Given the description of an element on the screen output the (x, y) to click on. 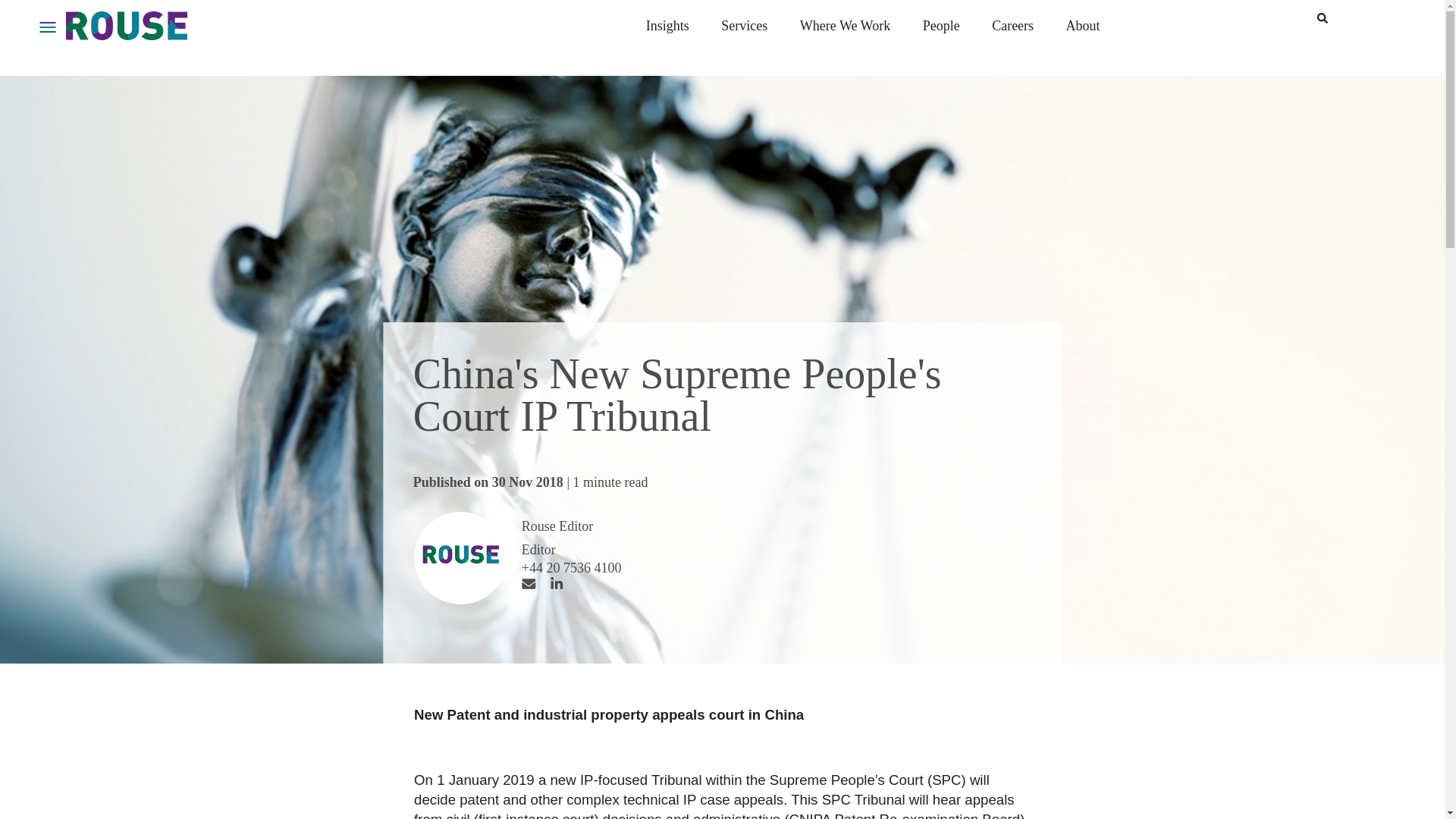
Insights (667, 25)
Where We Work (844, 25)
Services (743, 25)
